Given the description of an element on the screen output the (x, y) to click on. 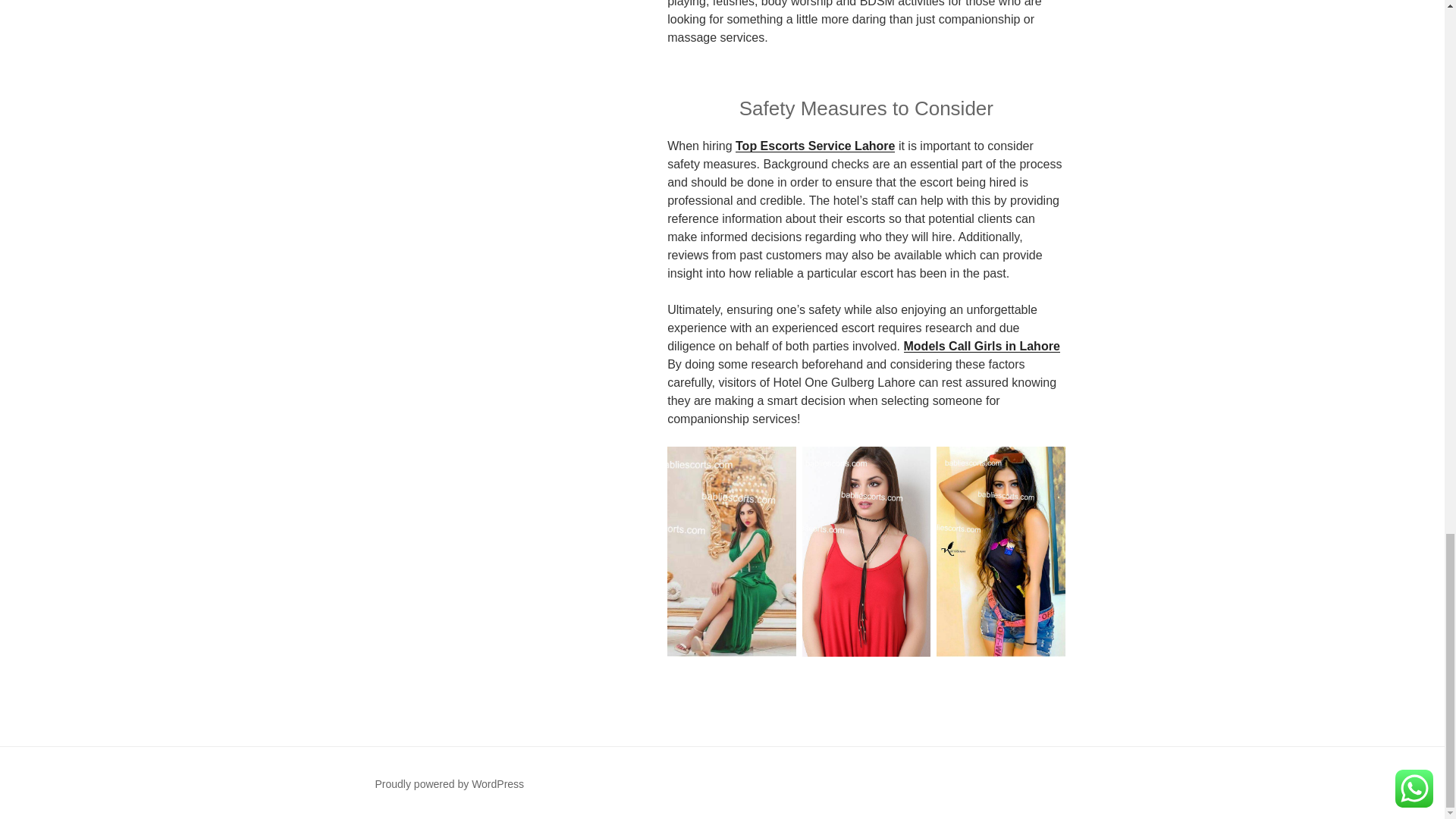
Top Escorts Service Lahore (815, 145)
Models Call Girls in Lahore (981, 345)
Proudly powered by WordPress (449, 784)
